Given the description of an element on the screen output the (x, y) to click on. 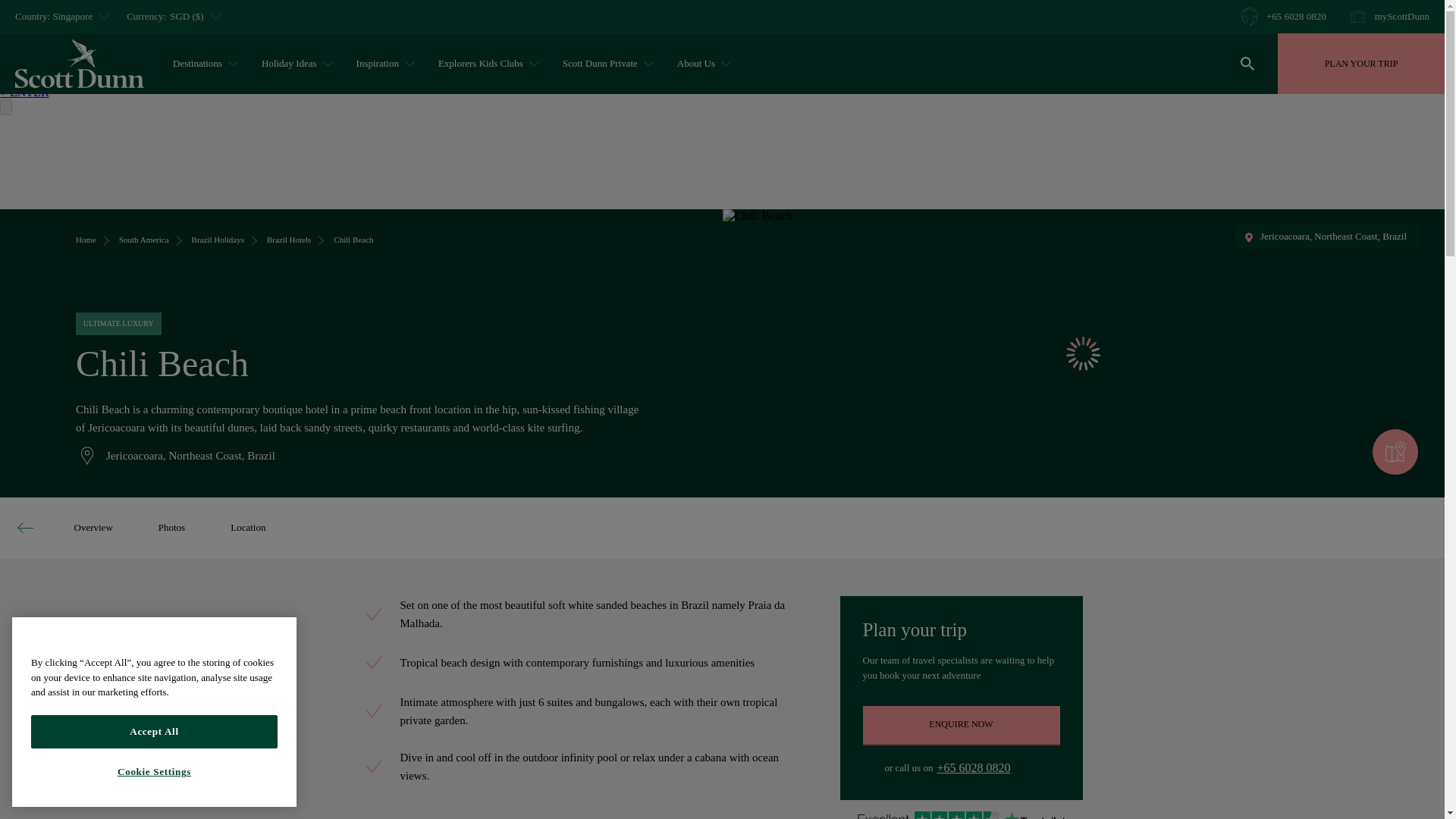
Destinations (202, 63)
myScottDunn (1389, 16)
